Given the description of an element on the screen output the (x, y) to click on. 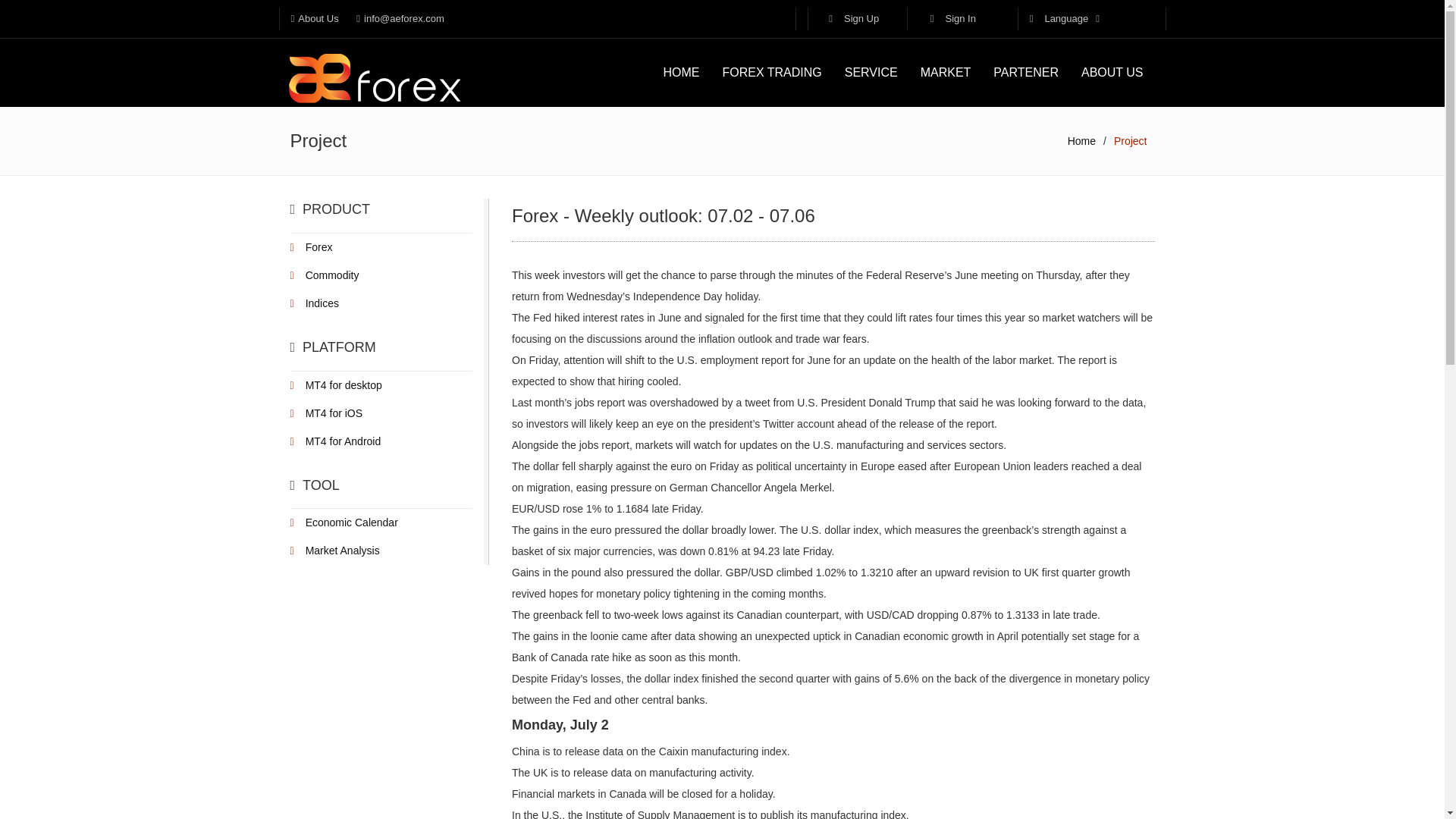
About Us (315, 18)
MARKET (945, 72)
SERVICE (870, 72)
FOREX TRADING (771, 72)
